Given the description of an element on the screen output the (x, y) to click on. 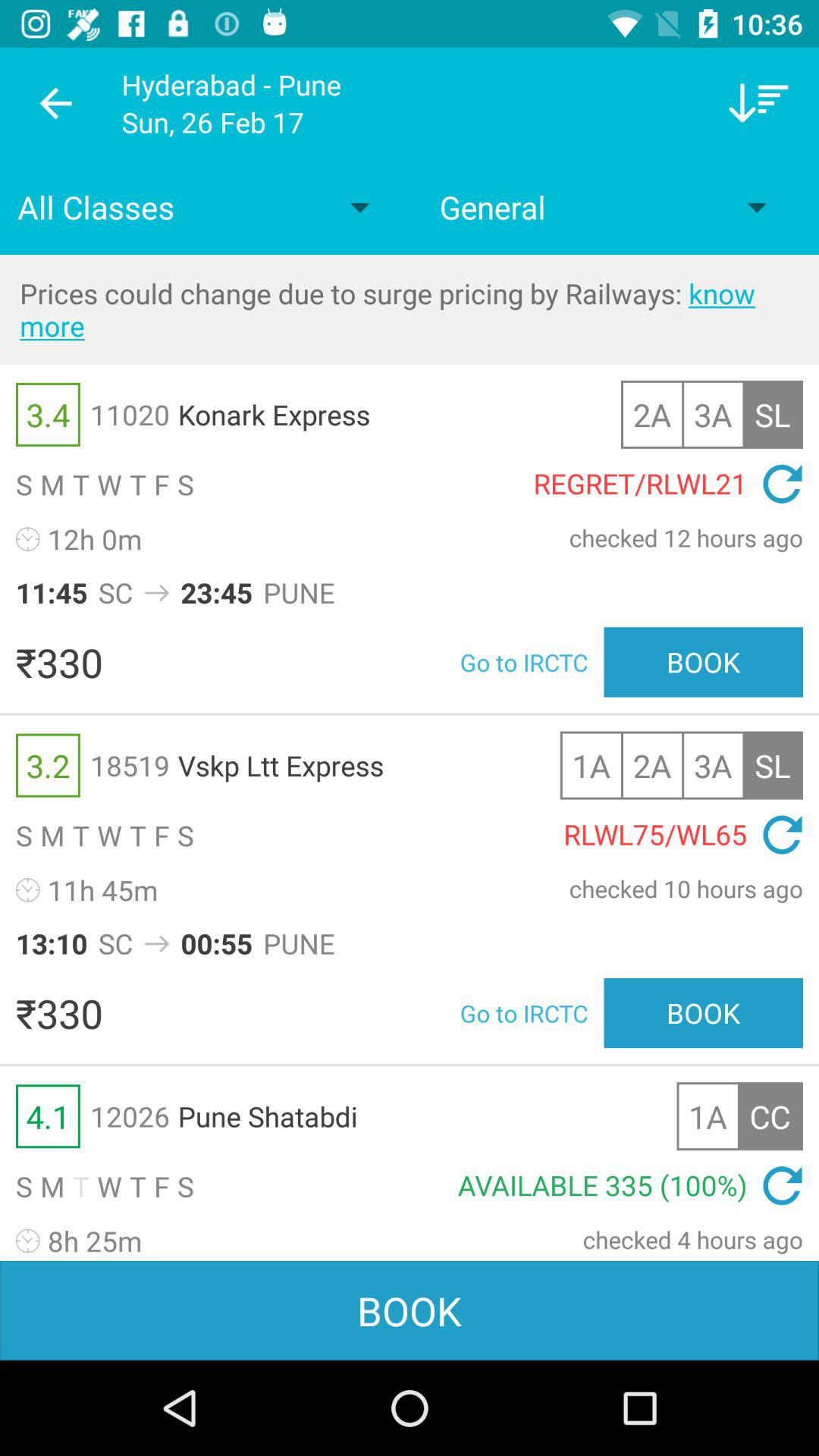
change filters (758, 103)
